Given the description of an element on the screen output the (x, y) to click on. 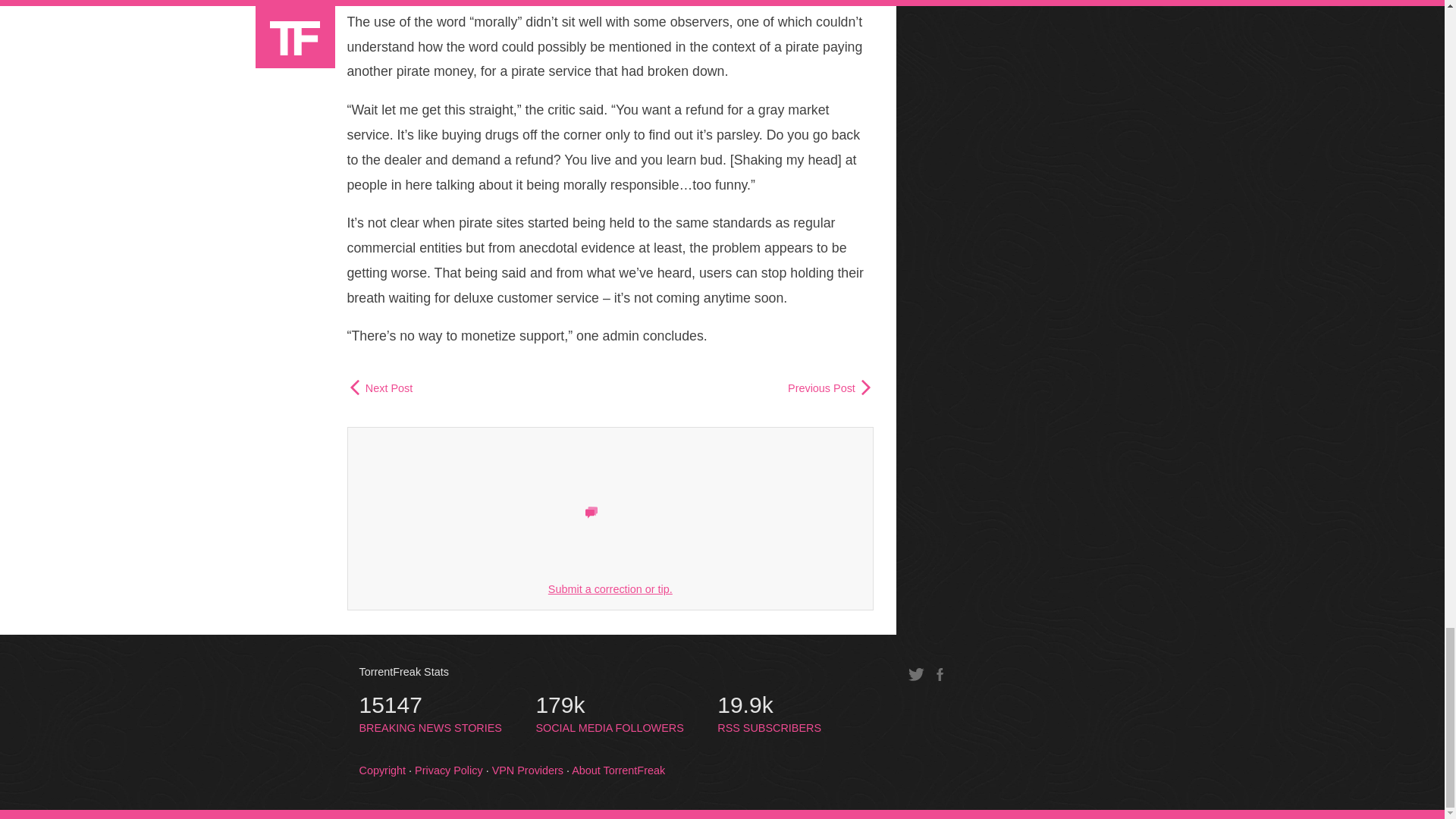
About TorrentFreak (769, 714)
VPN Providers (618, 770)
Copyright (527, 770)
Next Post (382, 770)
Submit a correction or tip. (380, 387)
Privacy Policy (610, 589)
Previous Post (448, 770)
